Given the description of an element on the screen output the (x, y) to click on. 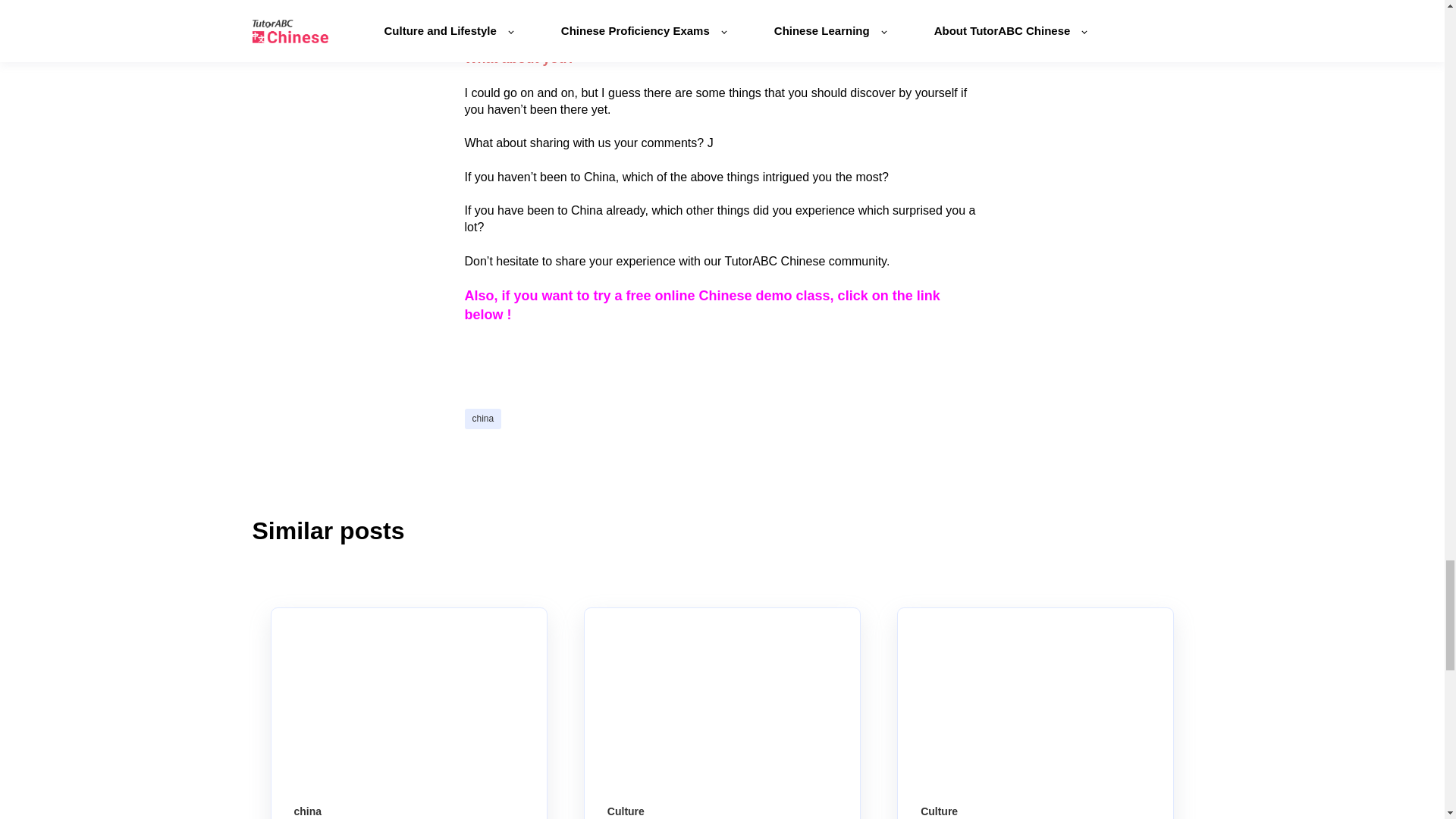
china (482, 418)
